Given the description of an element on the screen output the (x, y) to click on. 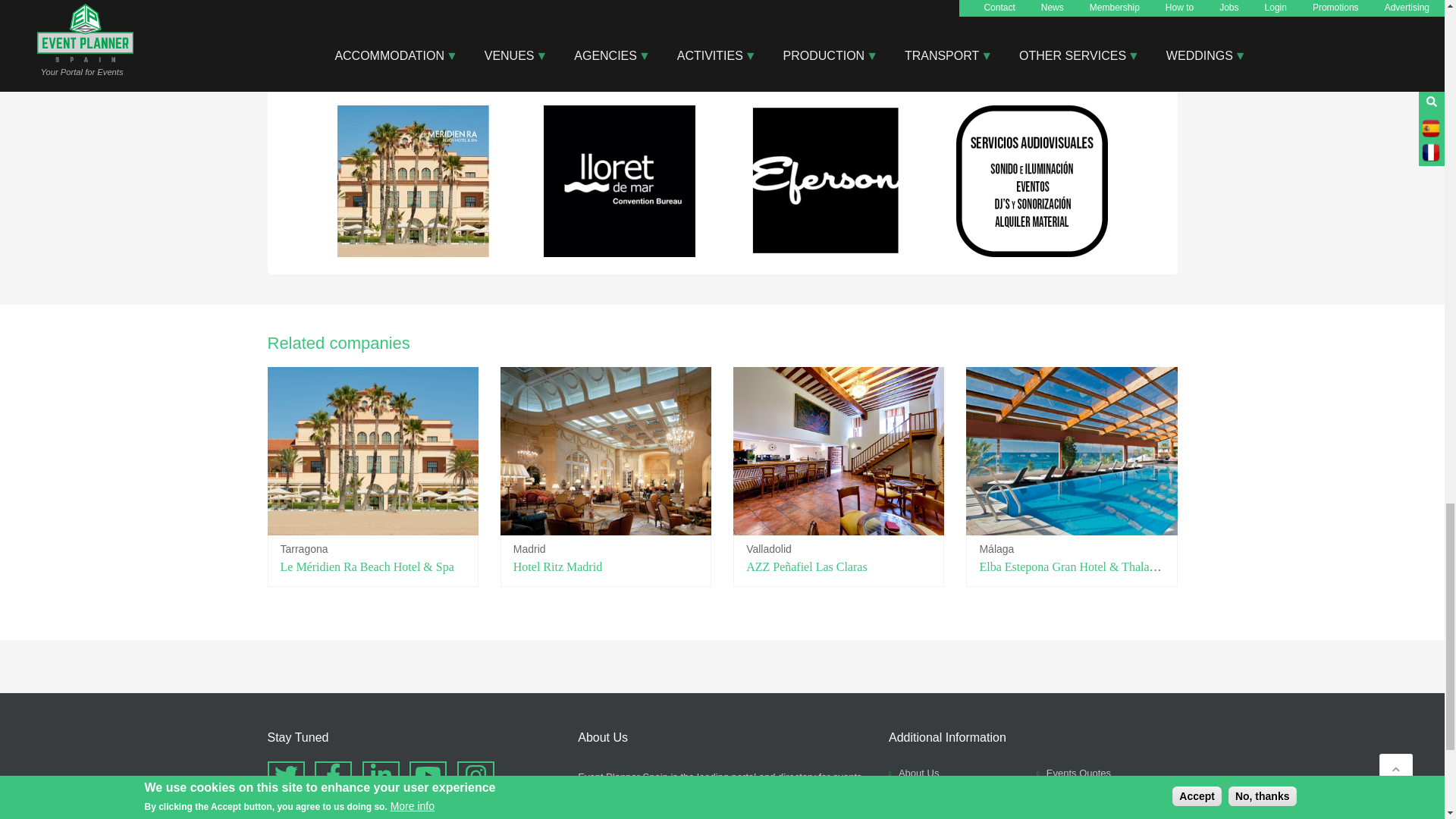
Abouts Us (913, 772)
